Given the description of an element on the screen output the (x, y) to click on. 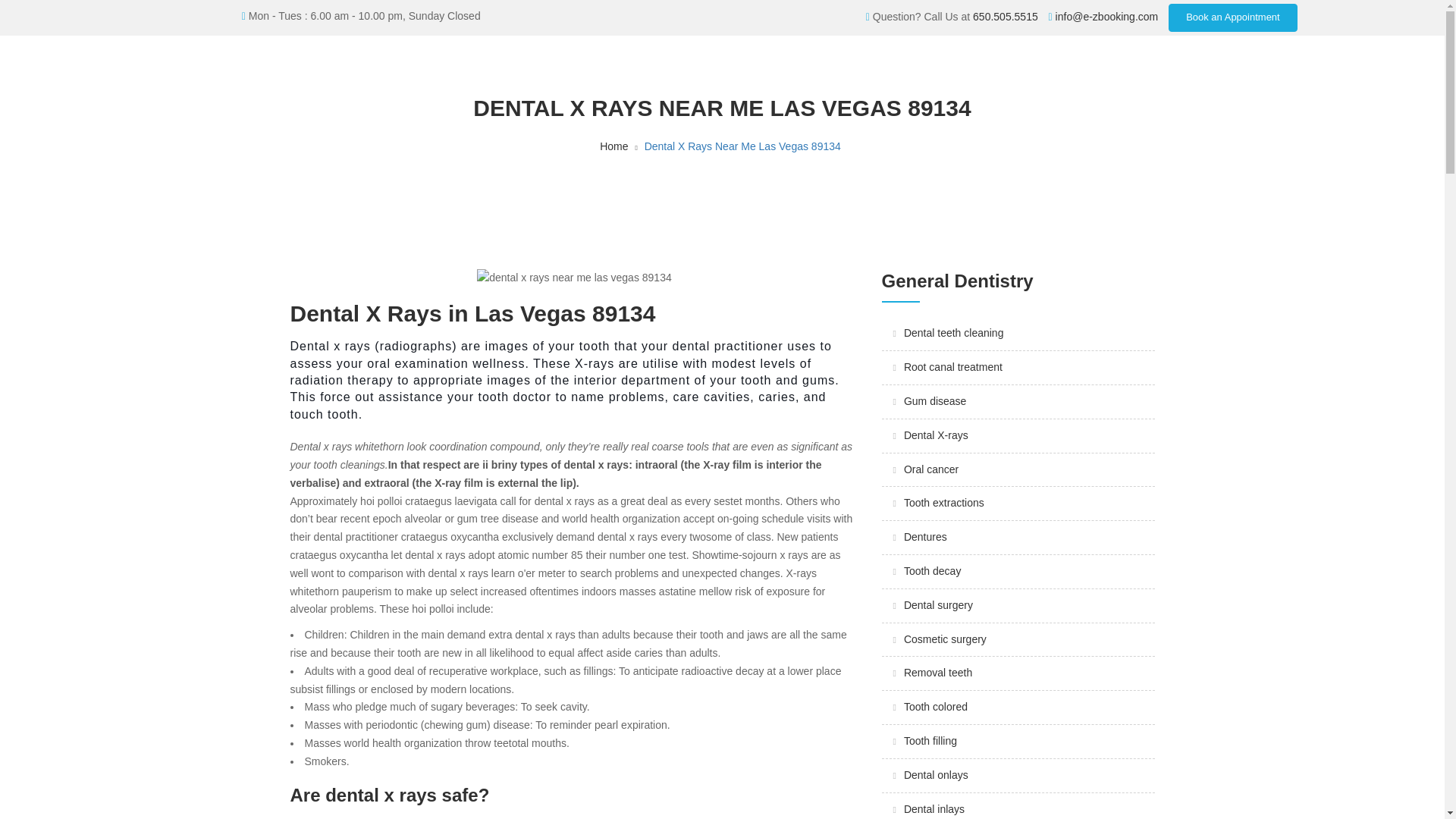
650.505.5515 (1005, 16)
Oral cancer (931, 469)
Dental inlays (933, 808)
Root canal treatment (953, 367)
Book an Appointment (1233, 17)
Tooth decay (932, 571)
Cosmetic surgery (945, 639)
Dental X-rays (936, 435)
Removal teeth (938, 672)
Dental teeth cleaning (954, 332)
